Given the description of an element on the screen output the (x, y) to click on. 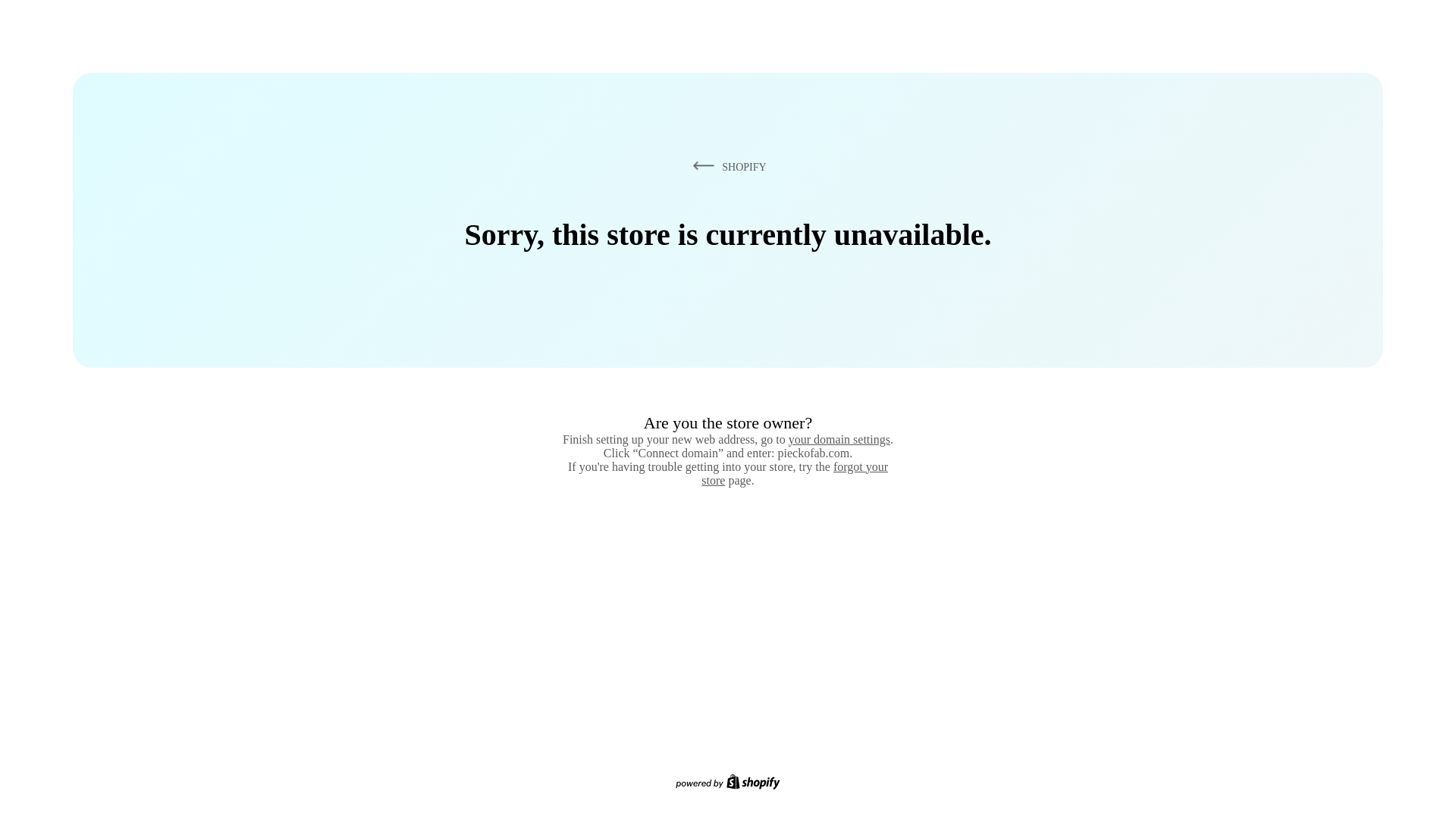
forgot your store (794, 473)
your domain settings (839, 439)
SHOPIFY (726, 166)
